Given the description of an element on the screen output the (x, y) to click on. 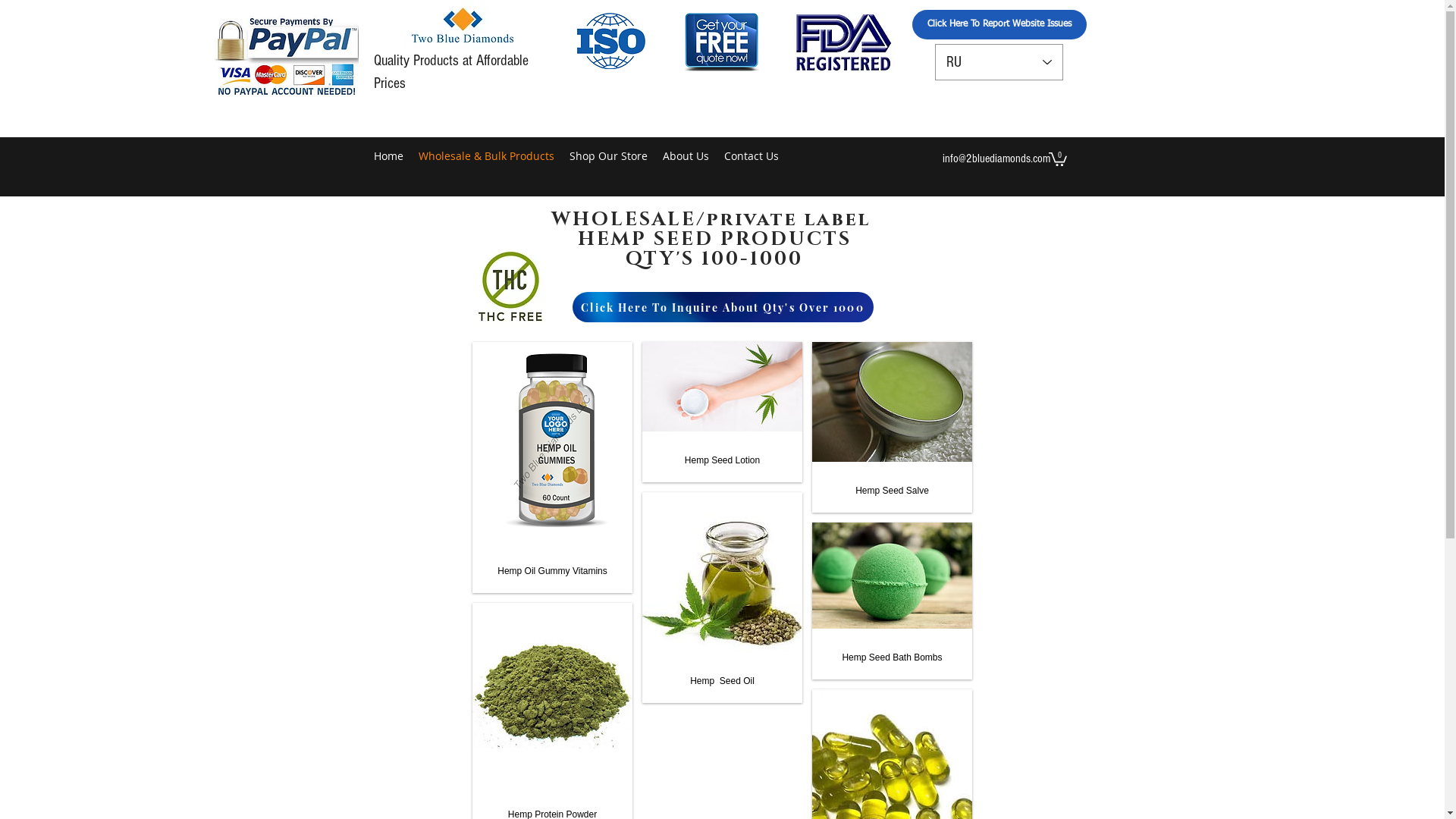
Contact Us Element type: text (750, 155)
Click Here To Report Website Issues Element type: text (998, 24)
About Us Element type: text (685, 155)
info@2bluediamonds.com Element type: text (995, 158)
Home Element type: text (387, 155)
0 Element type: text (1057, 158)
Click Here To Inquire About Qty's Over 1000 Element type: text (721, 306)
Shop Our Store Element type: text (607, 155)
Wholesale & Bulk Products Element type: text (486, 155)
